Given the description of an element on the screen output the (x, y) to click on. 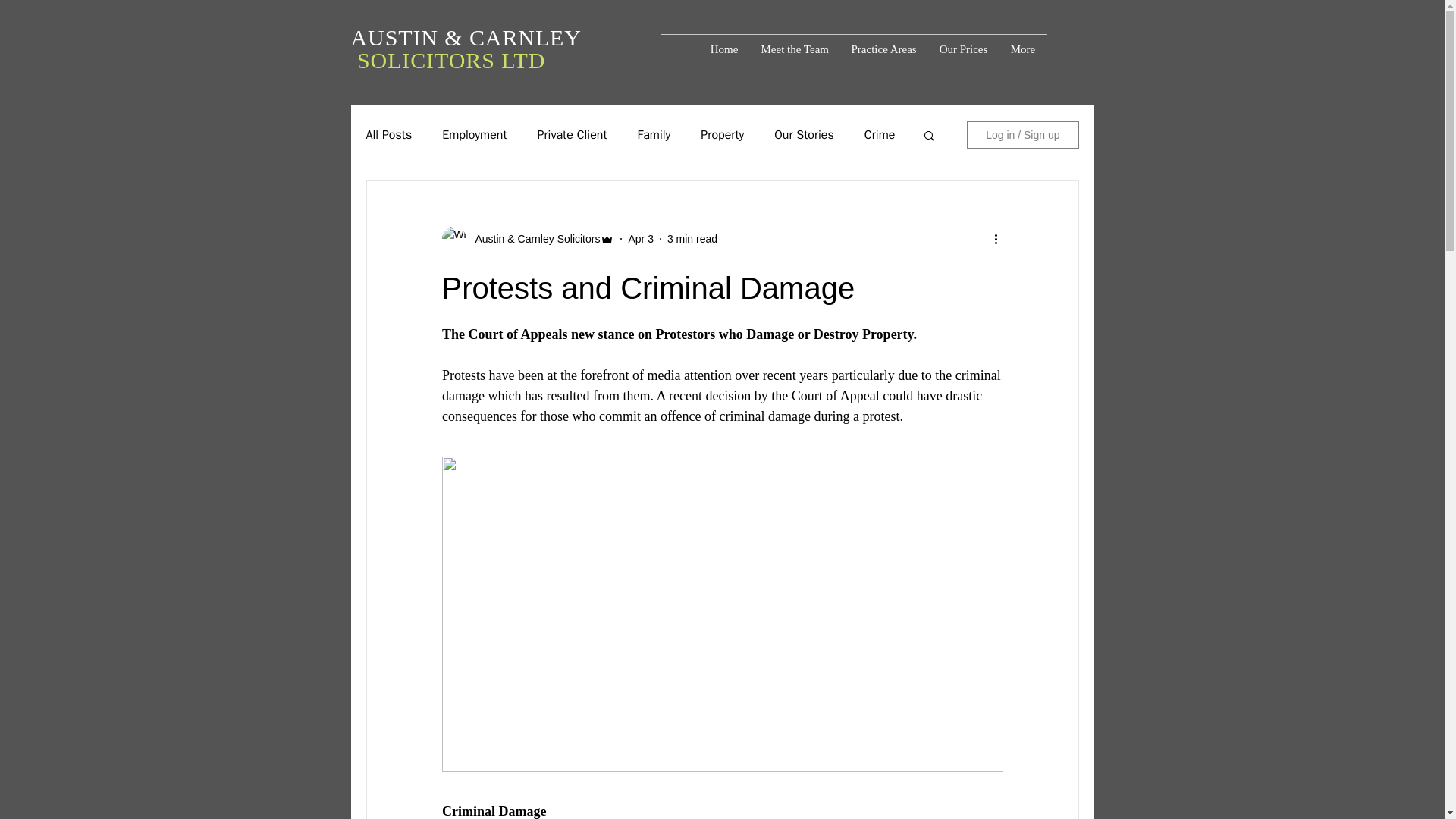
Crime (879, 135)
SOLICITORS  (428, 59)
3 min read (691, 237)
Home (723, 49)
LTD (522, 59)
Family (654, 135)
Property (722, 135)
Practice Areas (884, 49)
Our Stories (804, 135)
All Posts (388, 135)
